Given the description of an element on the screen output the (x, y) to click on. 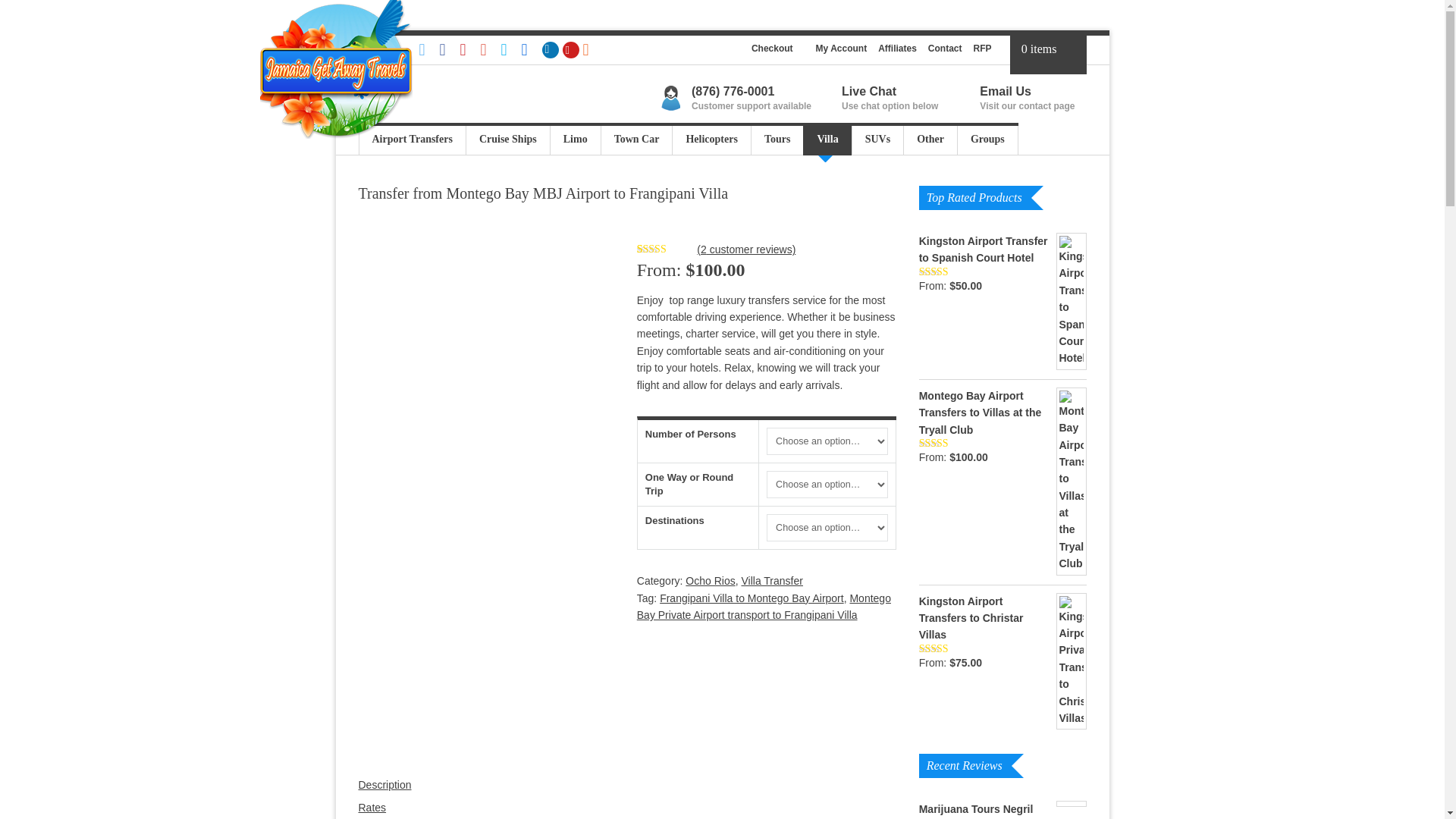
Facebook (449, 49)
Town Car (635, 140)
RSS Feed (592, 49)
My Account (841, 48)
Cruise Ships (507, 140)
Contact (945, 48)
Skype (510, 49)
Limo (574, 140)
Airport Transfers (411, 140)
Twitter (429, 49)
Flickr (531, 49)
Checkout (772, 48)
RFP (982, 48)
LinkedIn (551, 49)
Affiliates (897, 48)
